Given the description of an element on the screen output the (x, y) to click on. 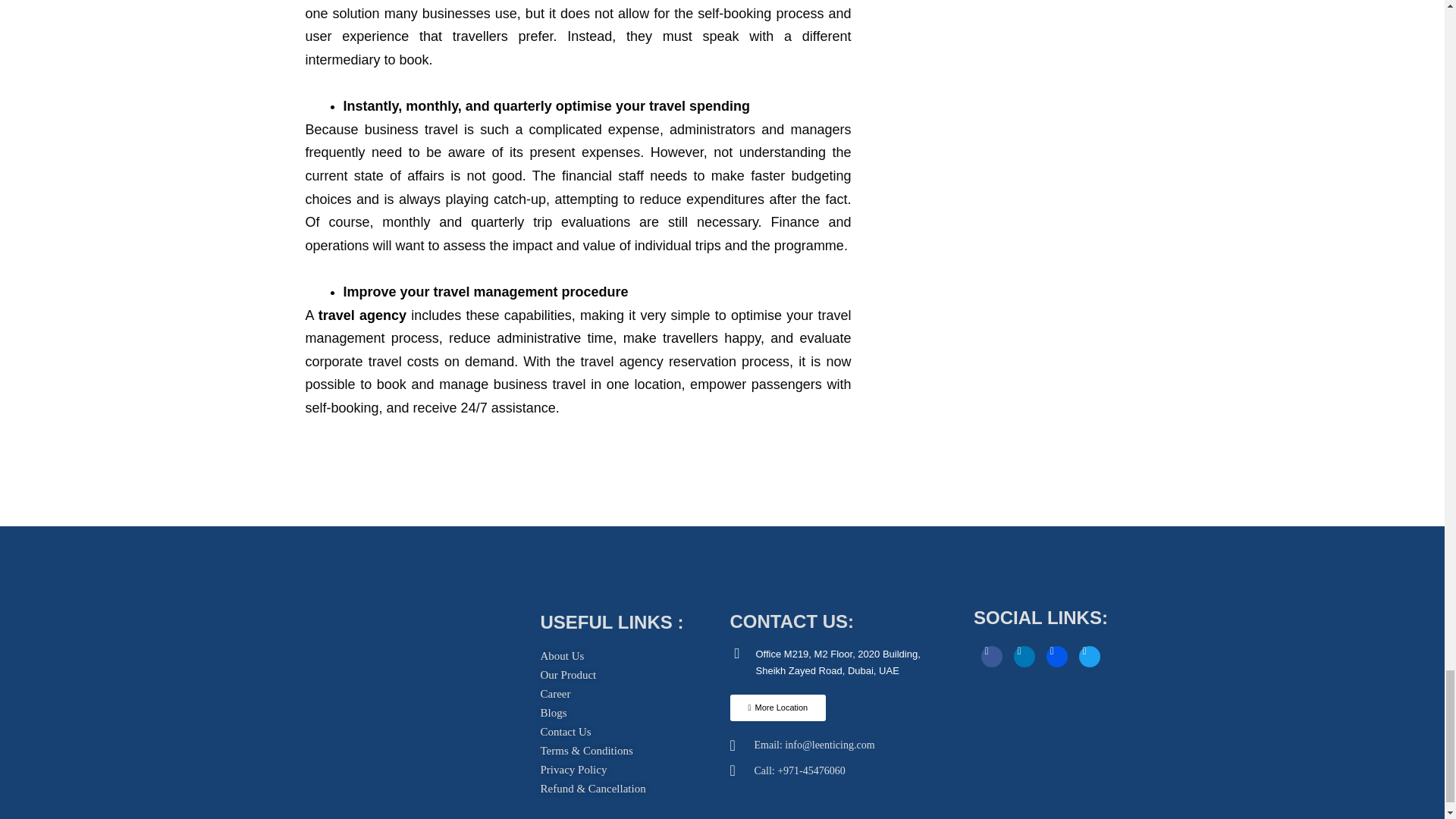
Our Product (567, 674)
About Us (561, 656)
Privacy Policy (573, 769)
travel agency (362, 314)
Contact Us (565, 732)
Blogs (553, 712)
Career (555, 693)
More Location (777, 707)
